Given the description of an element on the screen output the (x, y) to click on. 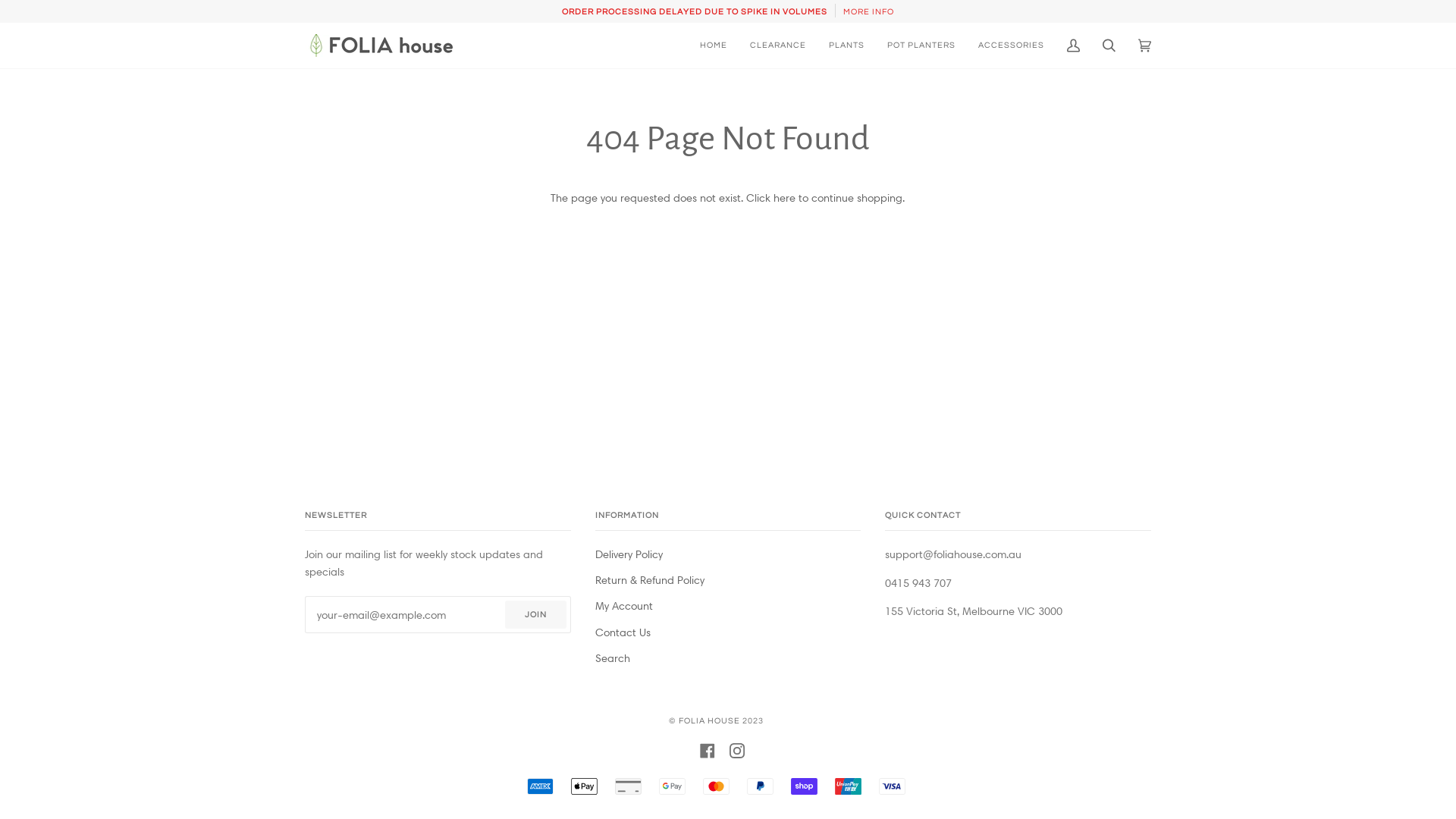
here Element type: text (784, 197)
Contact Us Element type: text (622, 632)
INSTAGRAM Element type: text (736, 750)
CLEARANCE Element type: text (777, 45)
FOLIA HOUSE Element type: text (708, 720)
Delivery Policy Element type: text (628, 554)
PLANTS Element type: text (846, 45)
POT PLANTERS Element type: text (920, 45)
HOME Element type: text (713, 45)
Cart
(0) Element type: text (1144, 45)
Search Element type: text (612, 658)
ORDER PROCESSING DELAYED DUE TO SPIKE IN VOLUMESMORE INFO Element type: text (727, 10)
Search Element type: text (1108, 45)
My Account Element type: text (623, 605)
JOIN Element type: text (535, 614)
FACEBOOK Element type: text (706, 750)
ACCESSORIES Element type: text (1010, 45)
Return & Refund Policy Element type: text (649, 579)
My Account Element type: text (1073, 45)
